Given the description of an element on the screen output the (x, y) to click on. 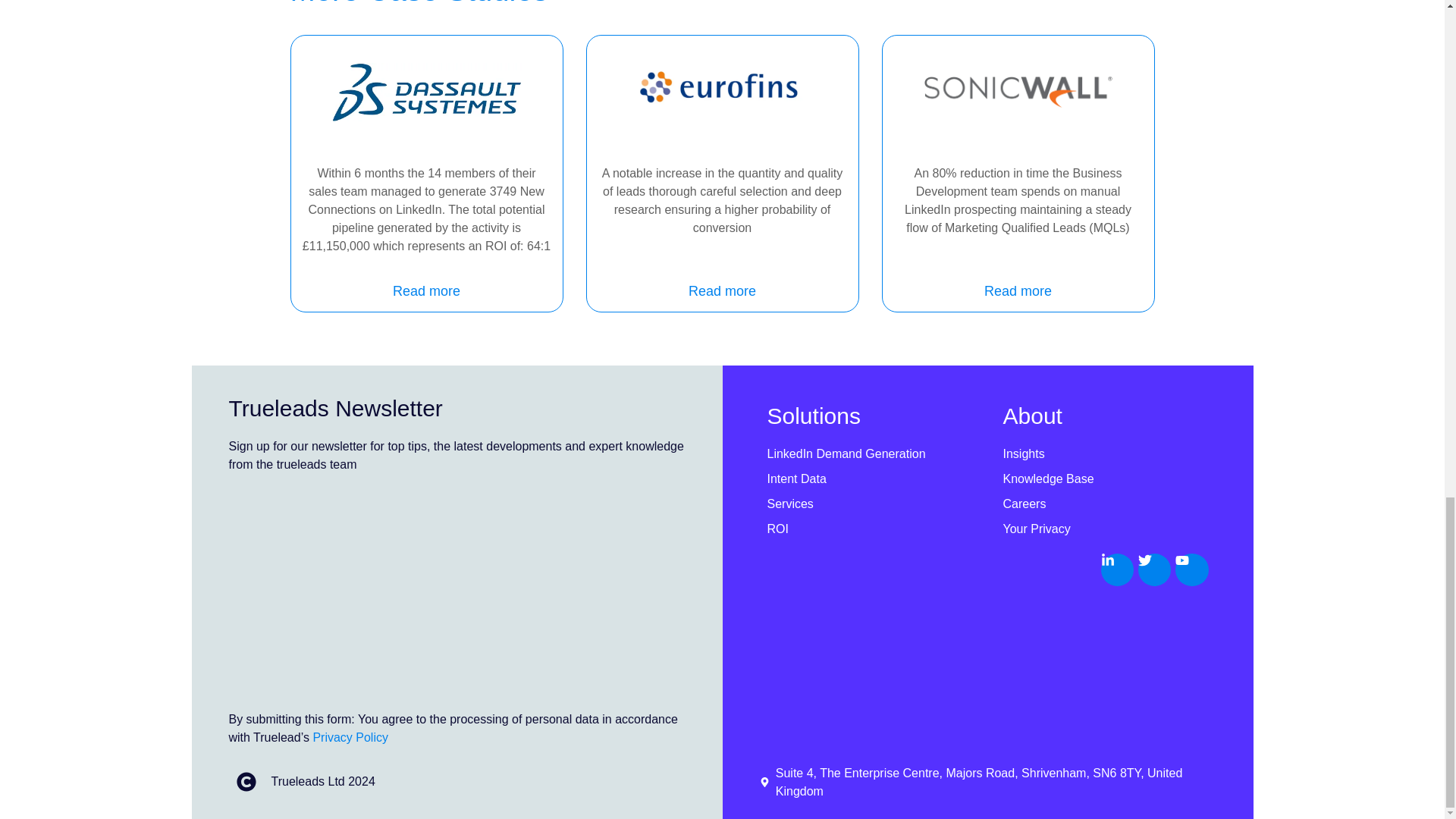
Read more (1018, 291)
Read more (426, 291)
LinkedIn Demand Generation (869, 454)
ROI (869, 529)
Services (869, 504)
Knowledge Base (1105, 479)
Intent Data (869, 479)
Privacy Policy (350, 737)
Read more (722, 291)
